Given the description of an element on the screen output the (x, y) to click on. 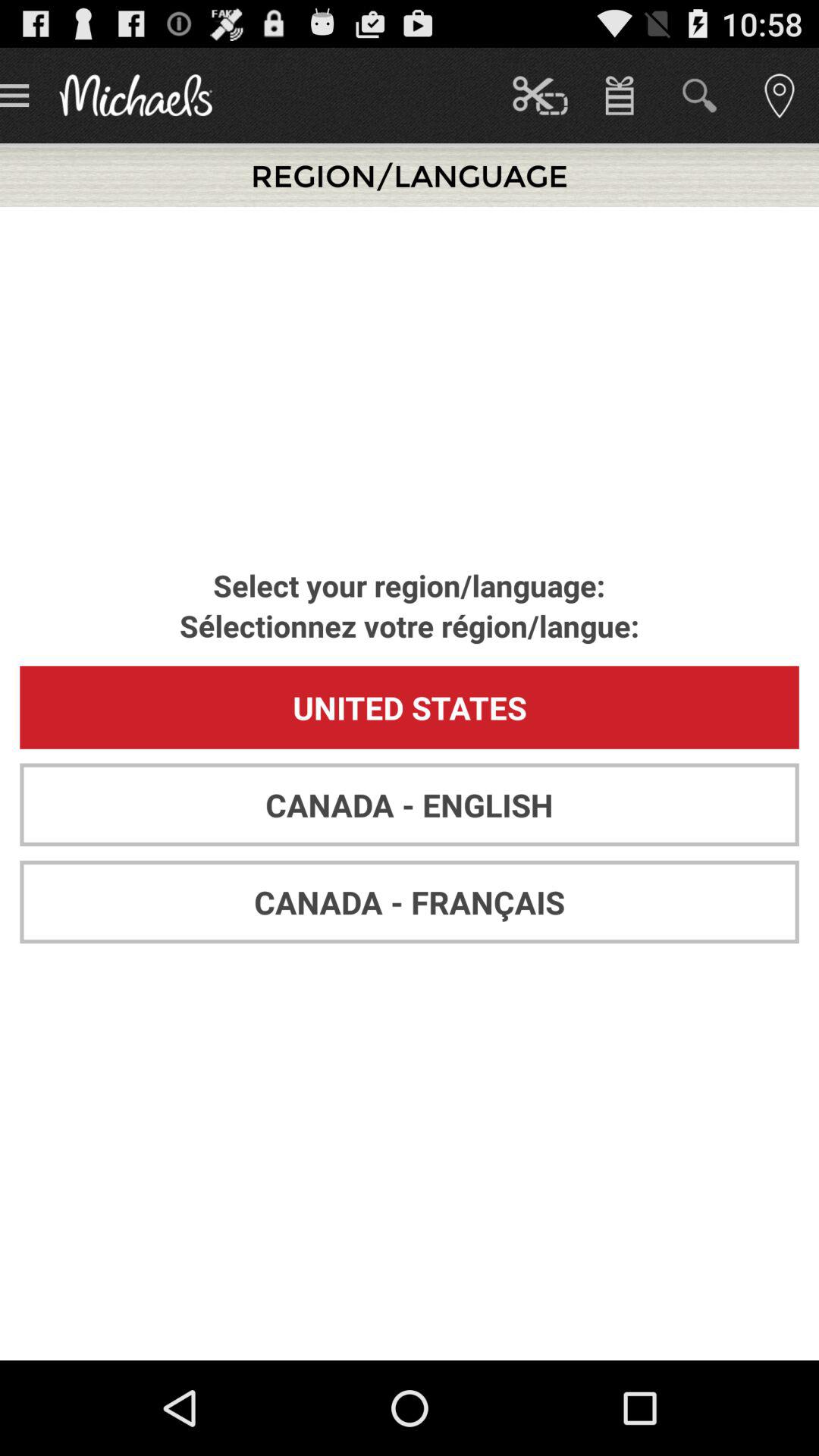
select the united states app (409, 707)
